Given the description of an element on the screen output the (x, y) to click on. 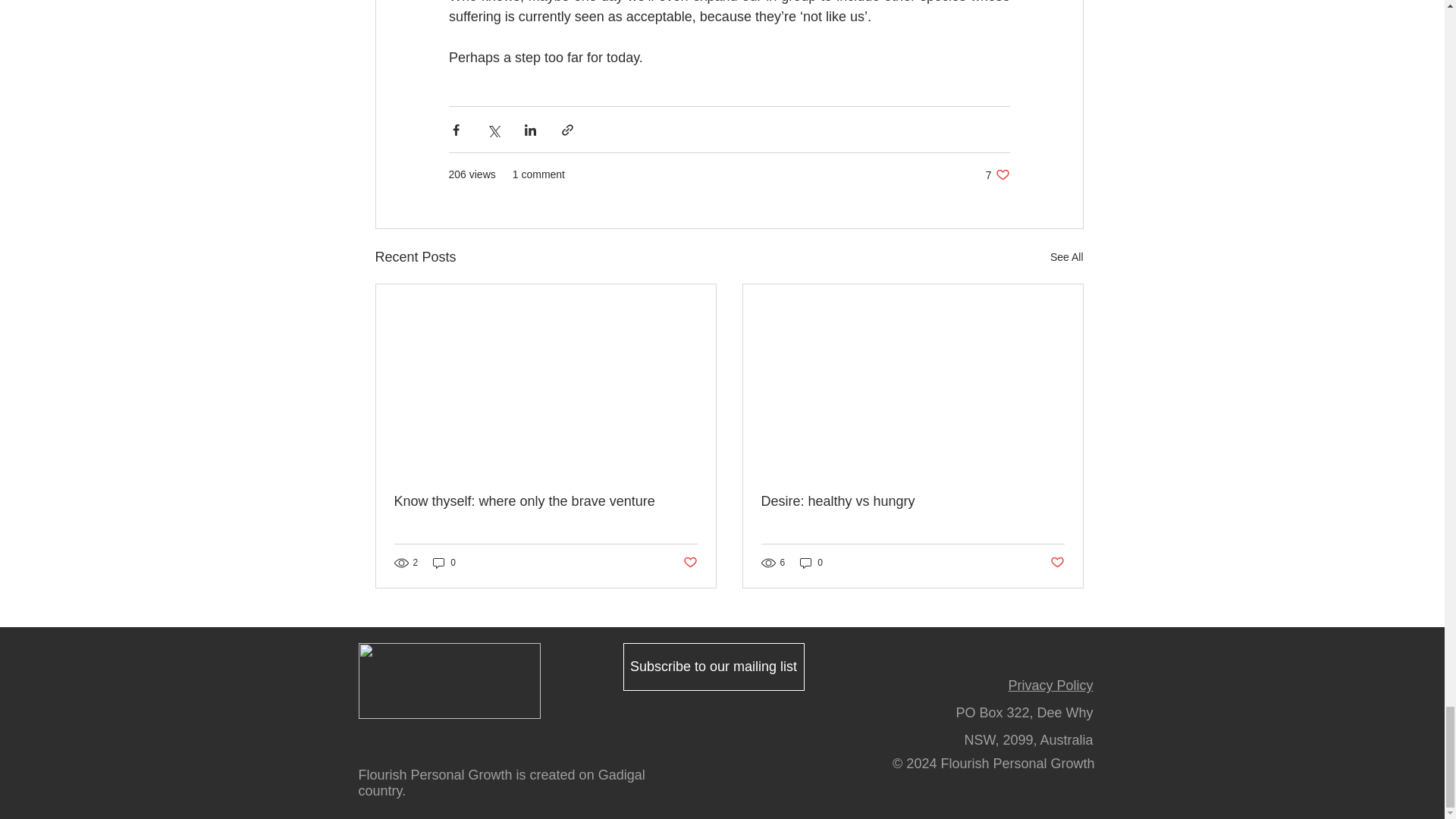
Post not marked as liked (689, 562)
Subscribe to our mailing list (714, 666)
Desire: healthy vs hungry (912, 501)
Know thyself: where only the brave venture (545, 501)
0 (997, 174)
0 (443, 563)
Post not marked as liked (810, 563)
See All (1056, 562)
